Given the description of an element on the screen output the (x, y) to click on. 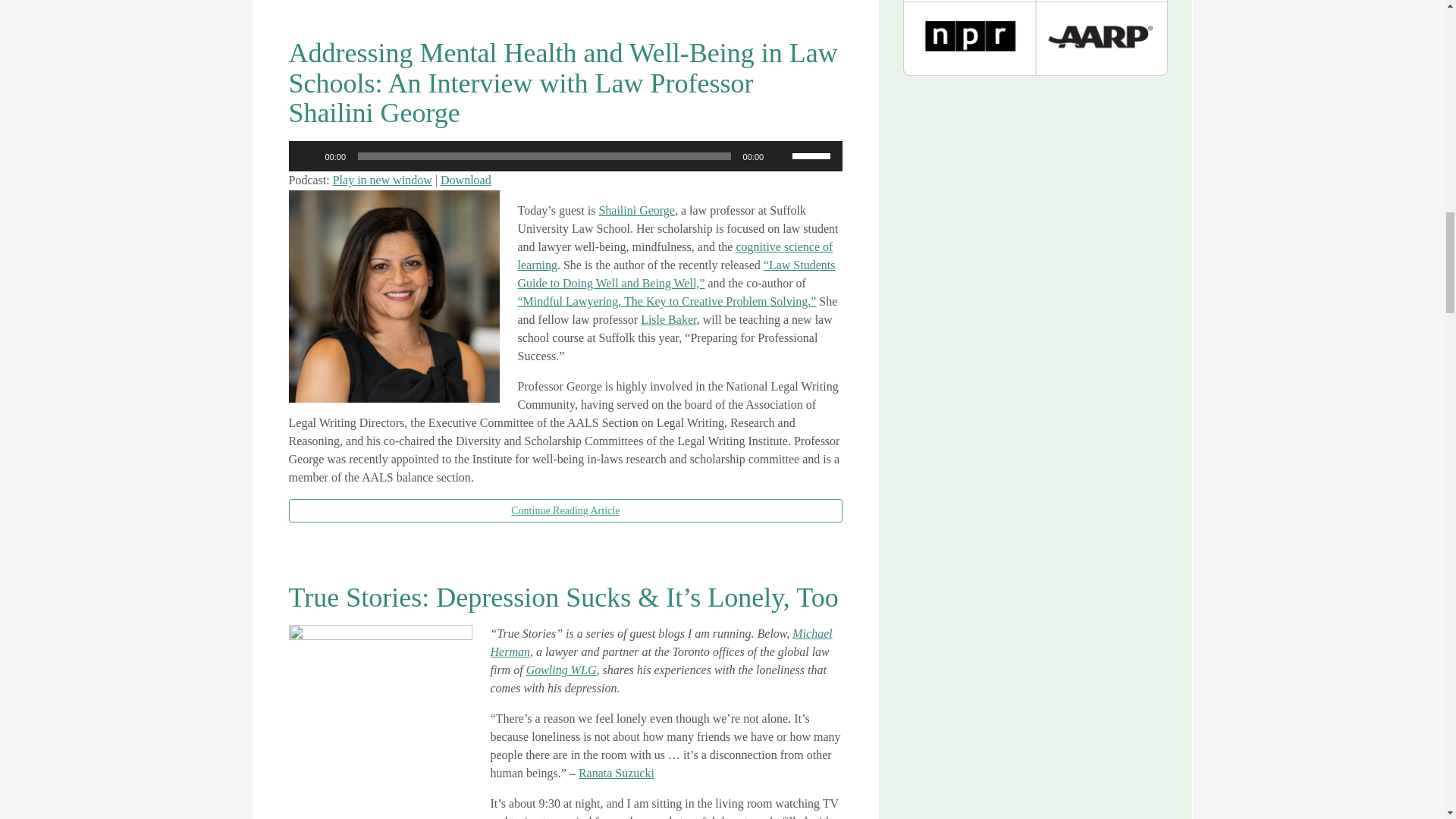
Play (307, 155)
Play in new window (382, 179)
Lisle Baker (668, 318)
cognitive science of learning (674, 255)
Mute (780, 155)
Play in new window (382, 179)
Continue Reading Article (565, 510)
Download (466, 179)
Shailini George (636, 210)
Download (466, 179)
